Given the description of an element on the screen output the (x, y) to click on. 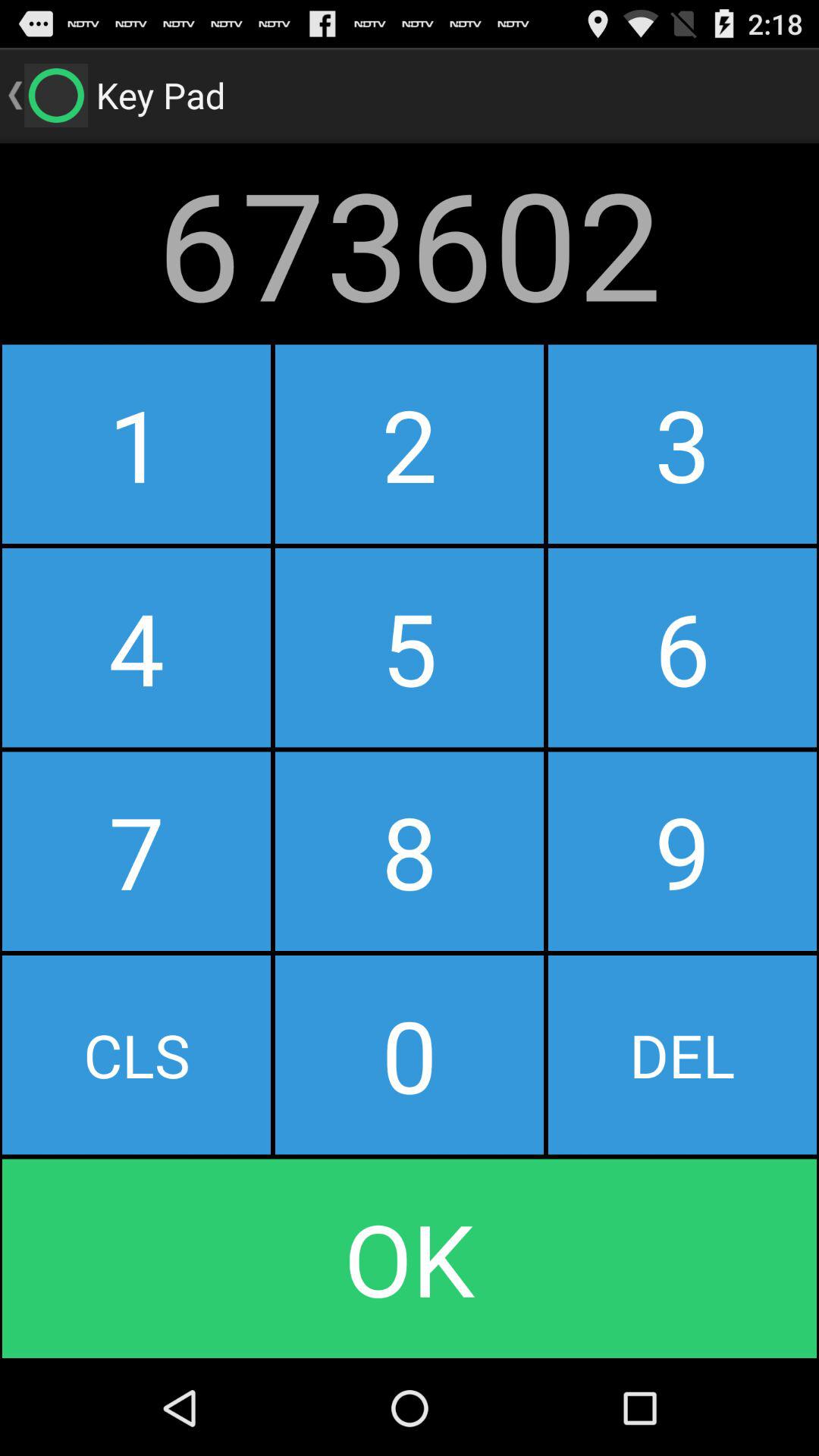
turn on the item below 673602 app (136, 443)
